Given the description of an element on the screen output the (x, y) to click on. 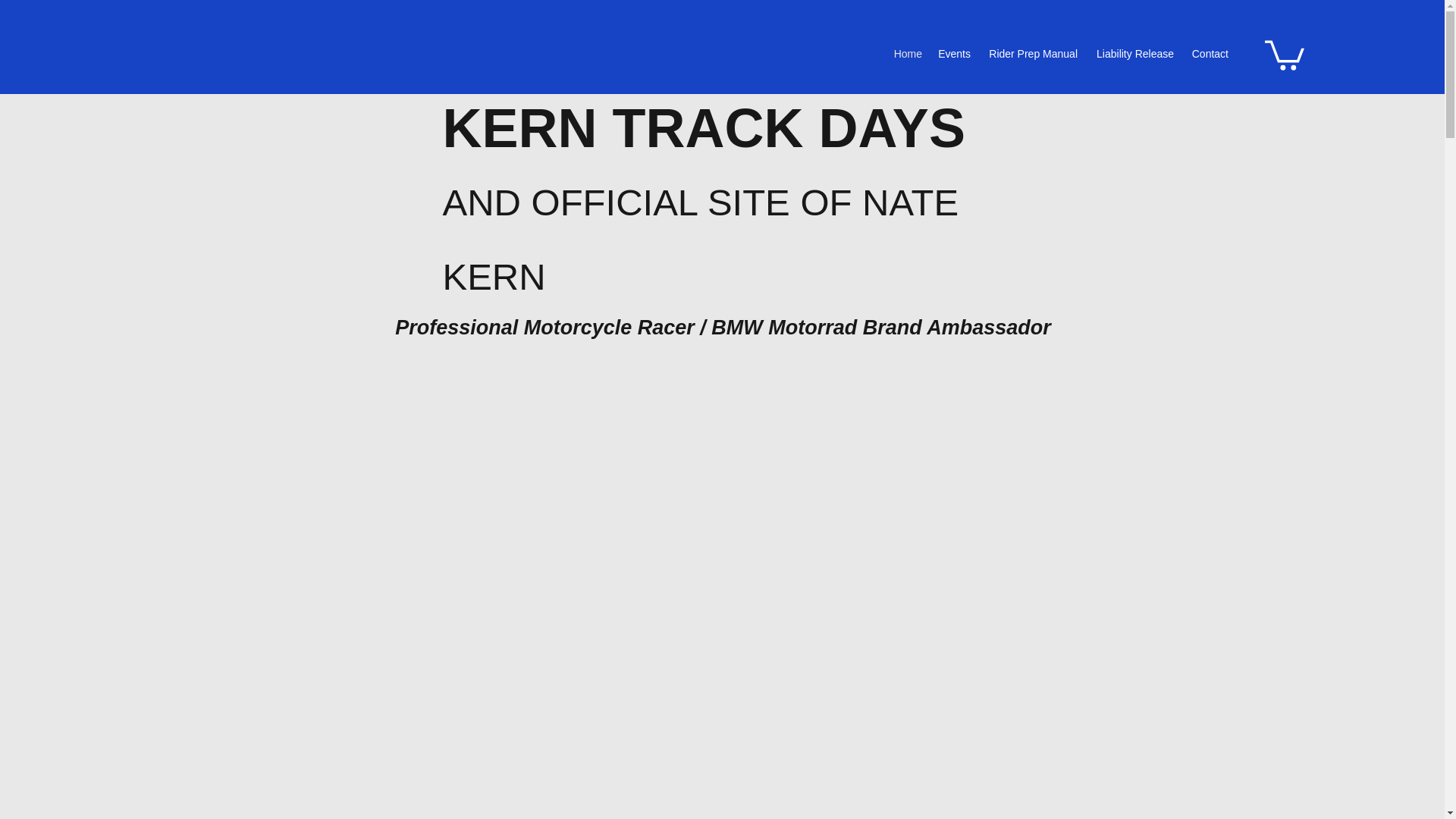
Home (907, 53)
Rider Prep Manual (1031, 53)
Events (954, 53)
Liability Release (1132, 53)
Contact (1208, 53)
